Given the description of an element on the screen output the (x, y) to click on. 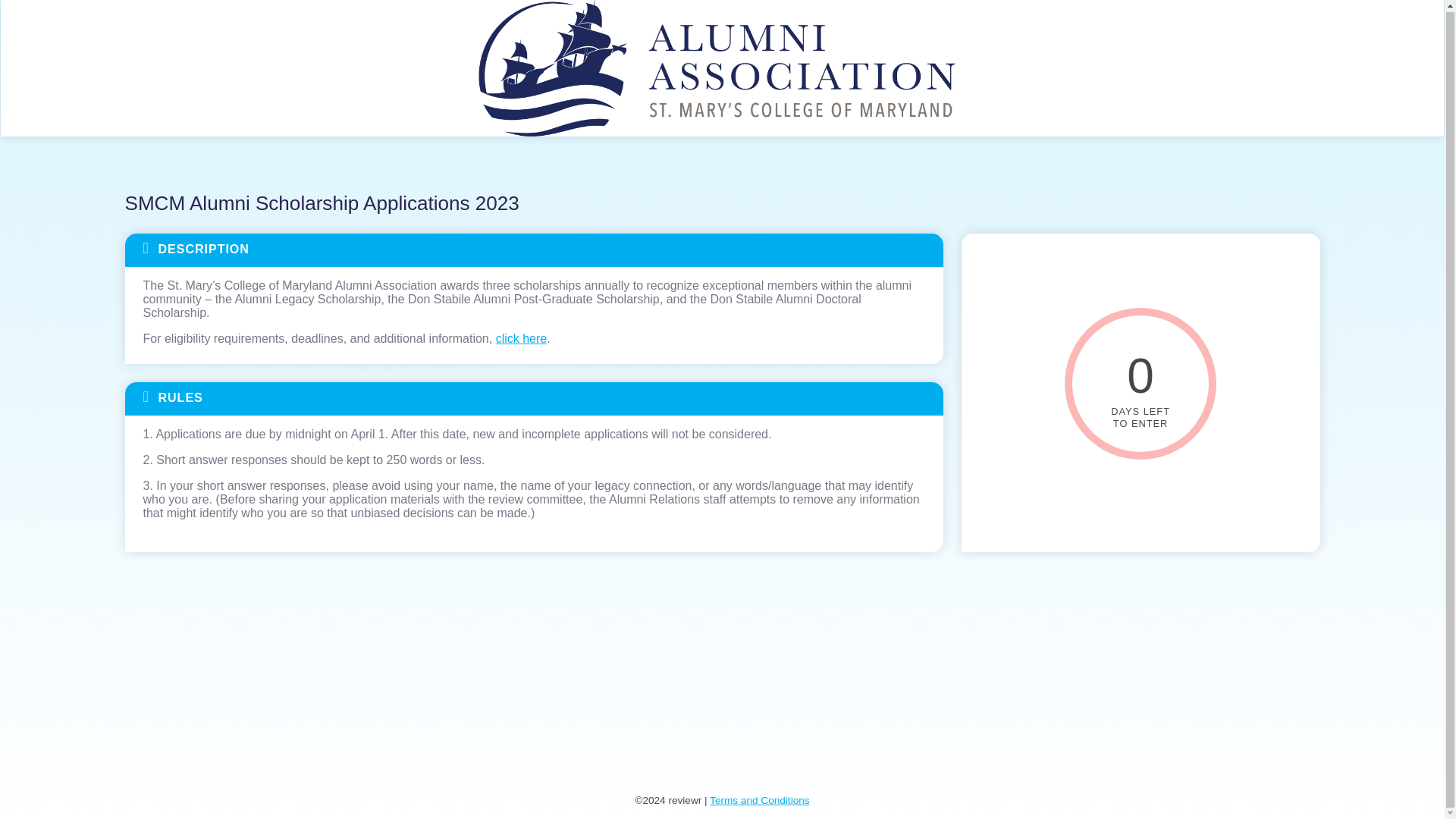
Terms and Conditions (759, 799)
click here (521, 338)
